Given the description of an element on the screen output the (x, y) to click on. 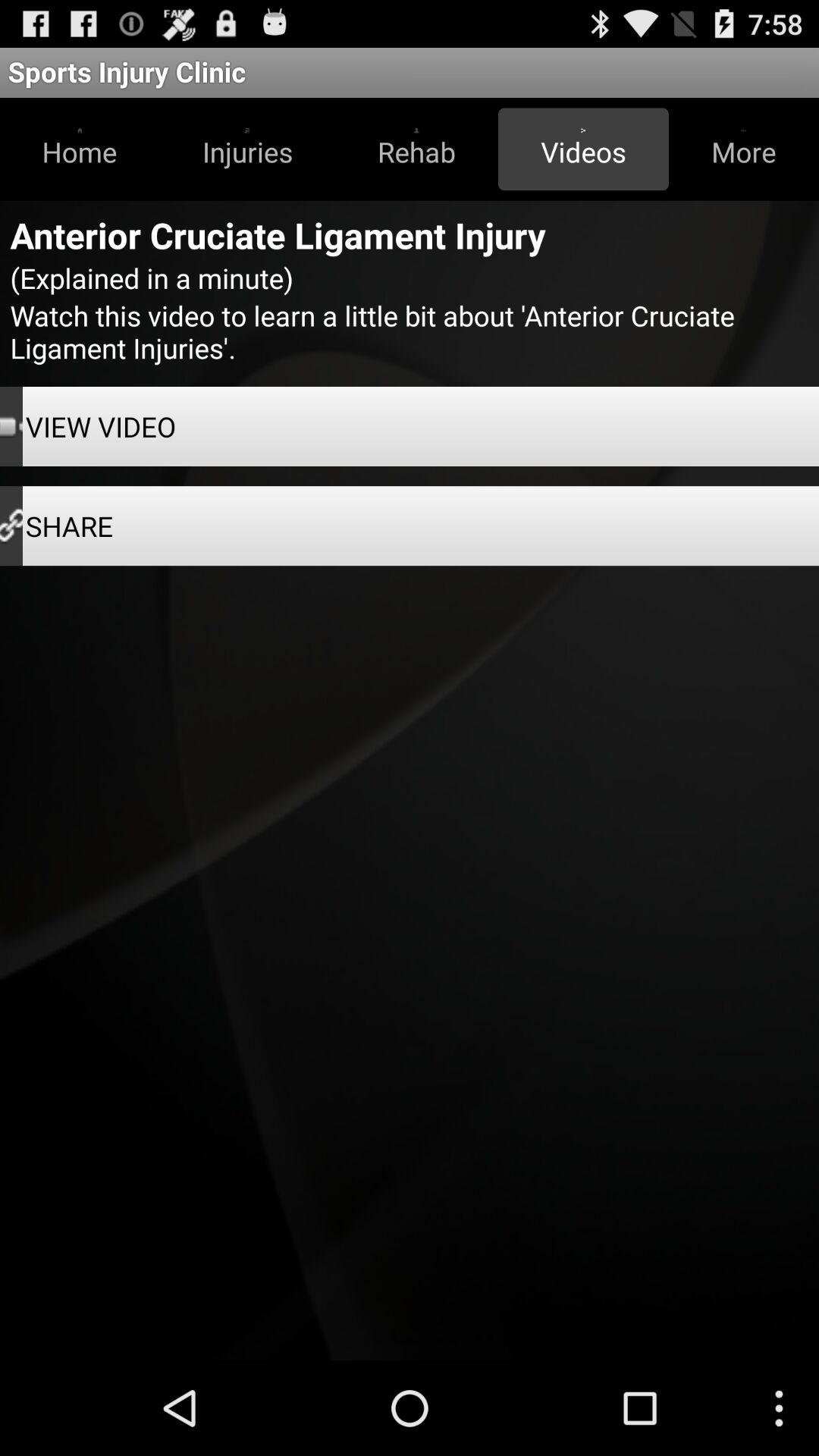
choose home (79, 149)
